Given the description of an element on the screen output the (x, y) to click on. 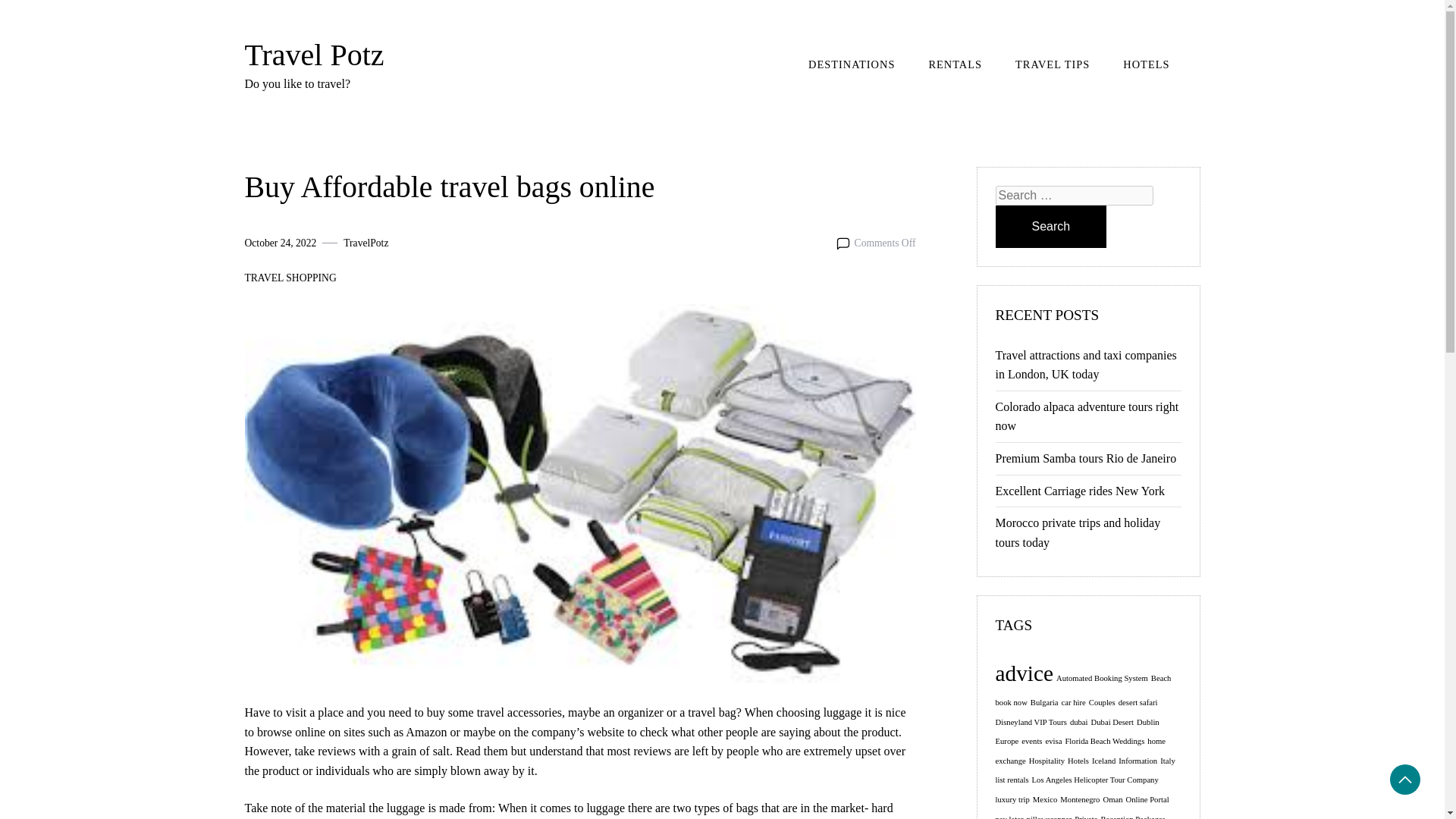
Automated Booking System (1102, 678)
DESTINATIONS (851, 64)
Beach (1161, 678)
TRAVEL TIPS (1052, 64)
RENTALS (954, 64)
Search (1050, 226)
evisa (1053, 741)
desert safari (1137, 702)
October 24, 2022 (279, 243)
Florida Beach Weddings (1104, 741)
